Given the description of an element on the screen output the (x, y) to click on. 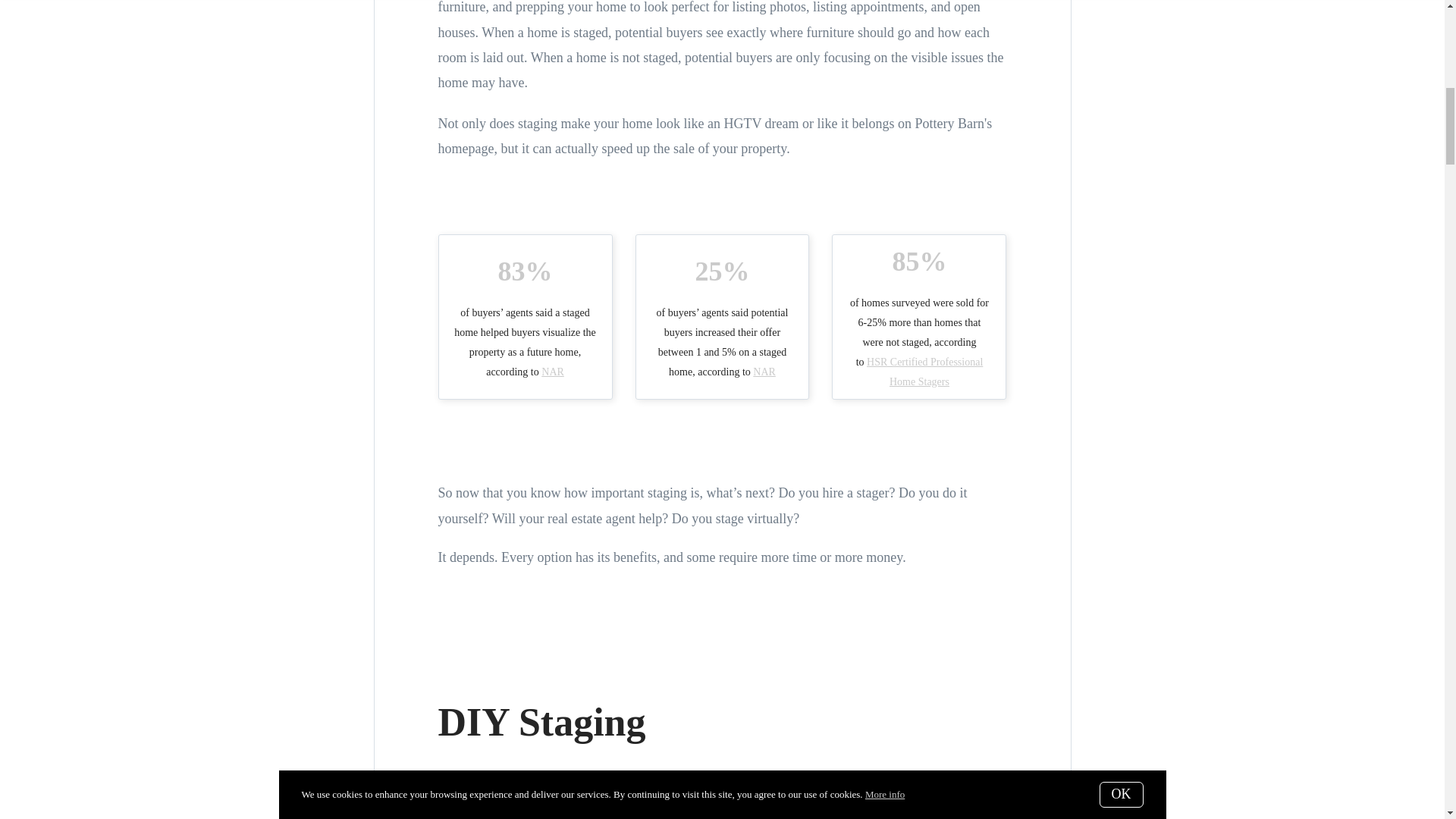
NAR (552, 370)
NAR (764, 370)
